Given the description of an element on the screen output the (x, y) to click on. 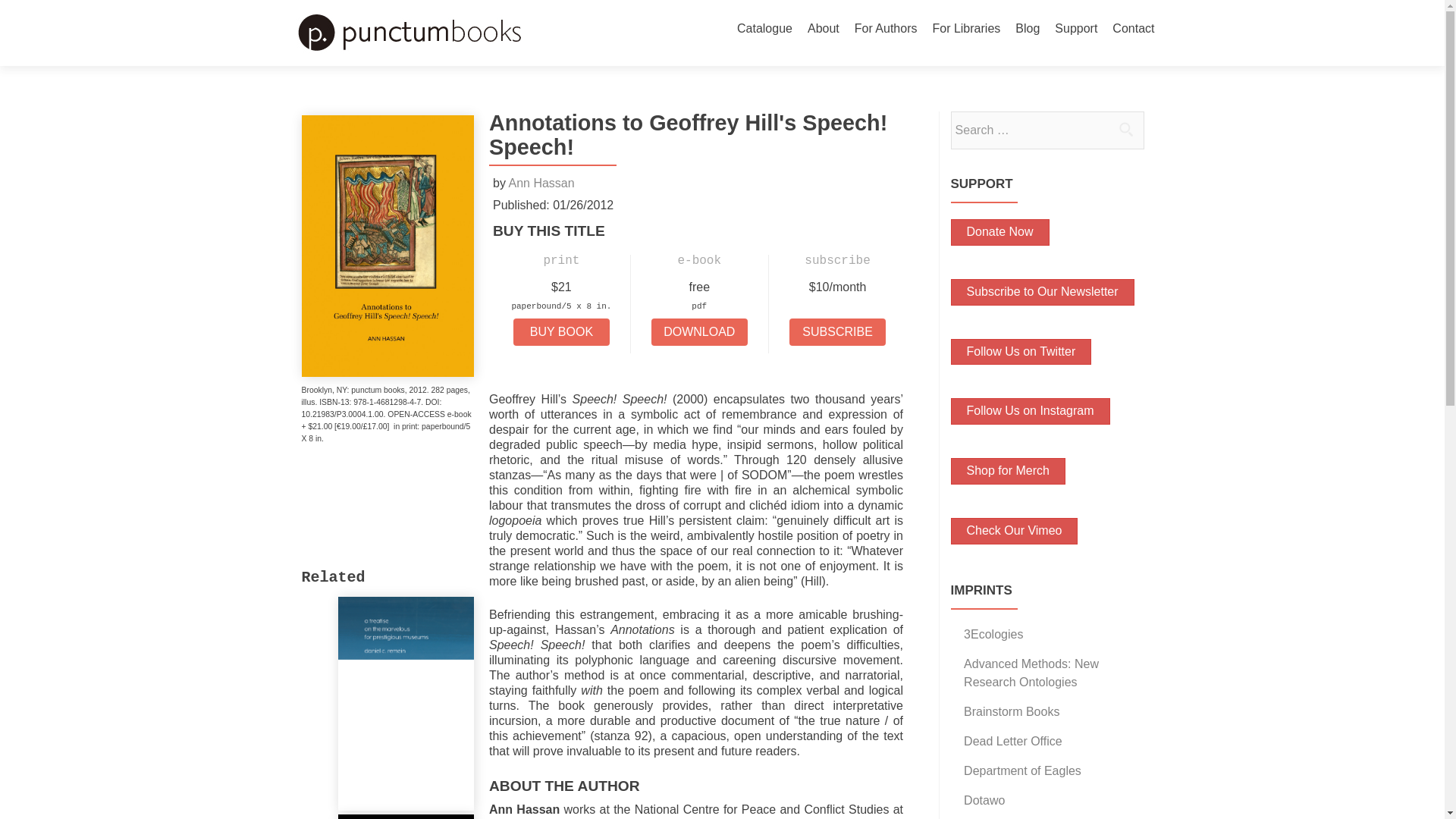
About (824, 28)
Support (1075, 28)
Blog (1026, 28)
Subscribe to Punctum (1042, 292)
Ann Hassan (540, 182)
For Libraries (965, 28)
Catalogue (764, 28)
Support Punctum (999, 232)
Treatise on the Marvelous for Prestigious Museums (405, 700)
Search (1125, 128)
